Given the description of an element on the screen output the (x, y) to click on. 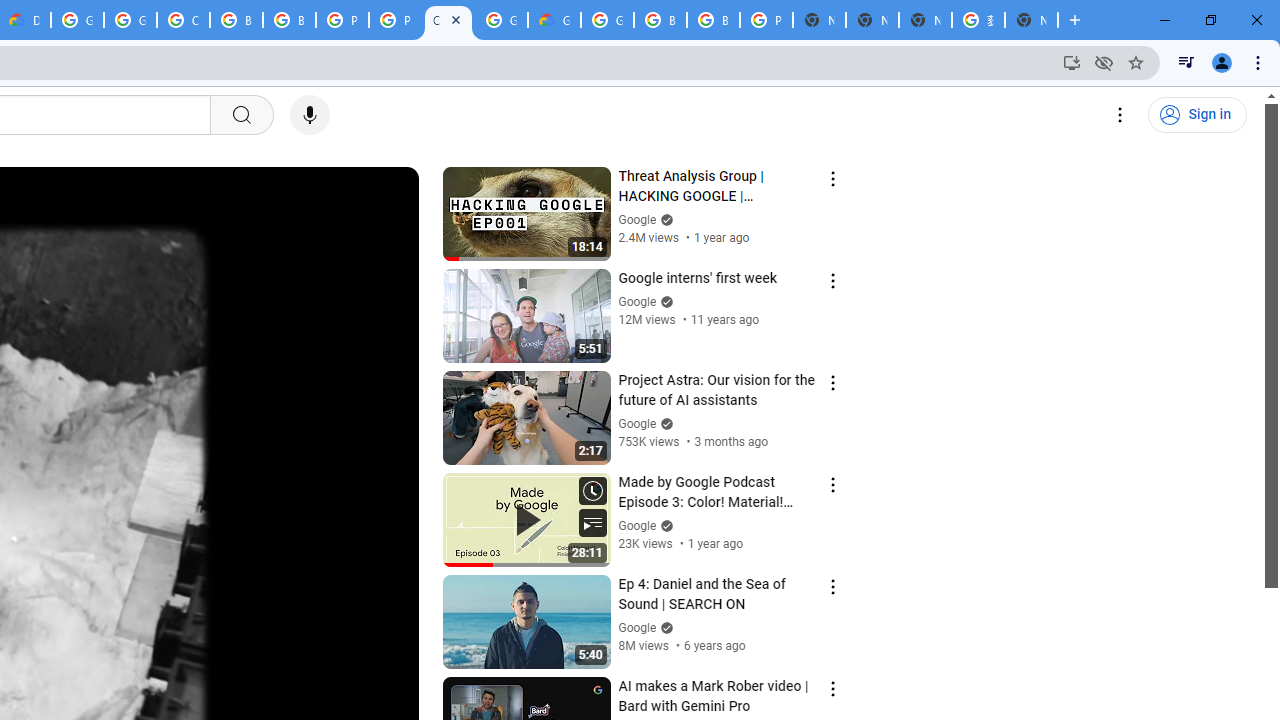
Google Cloud Platform (77, 20)
Search with your voice (309, 115)
